Given the description of an element on the screen output the (x, y) to click on. 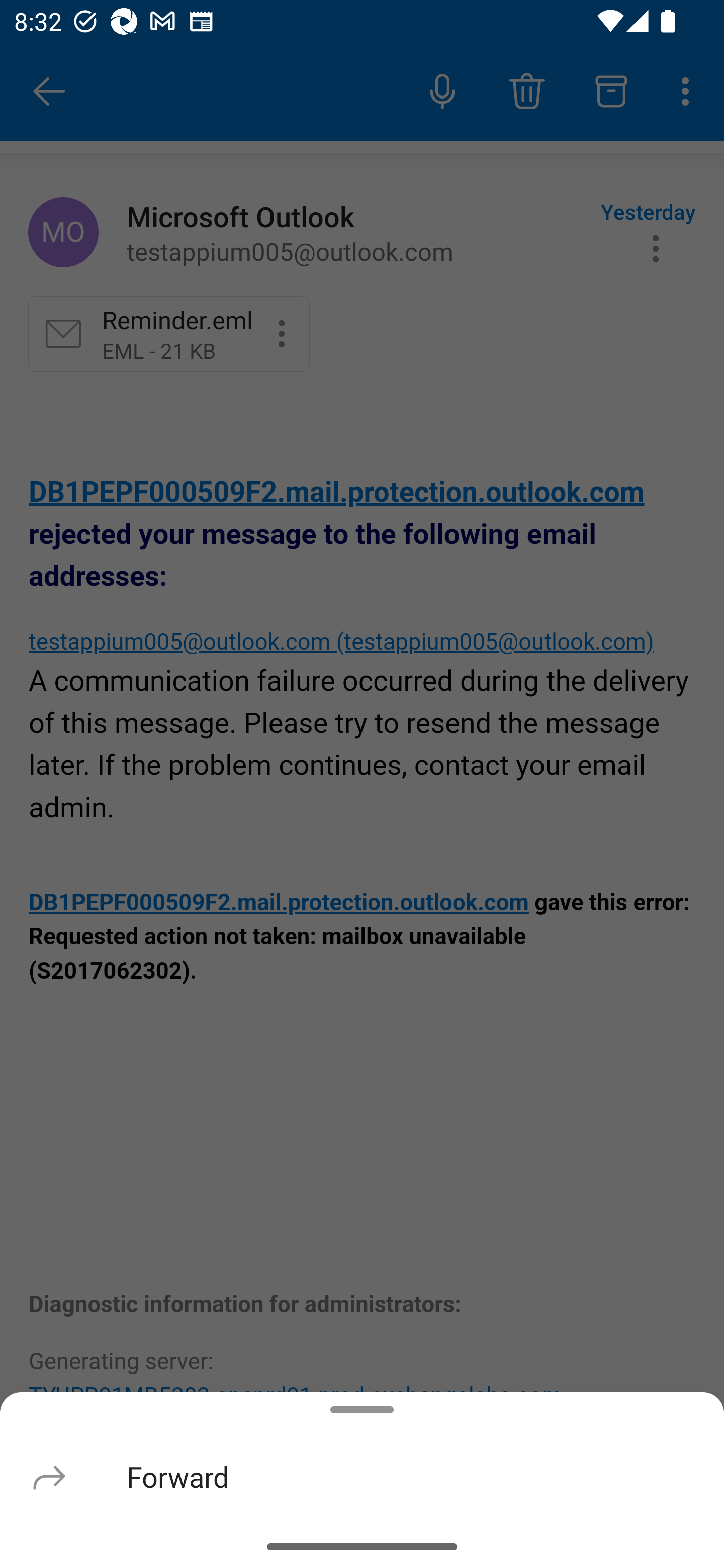
Forward (362, 1475)
